Given the description of an element on the screen output the (x, y) to click on. 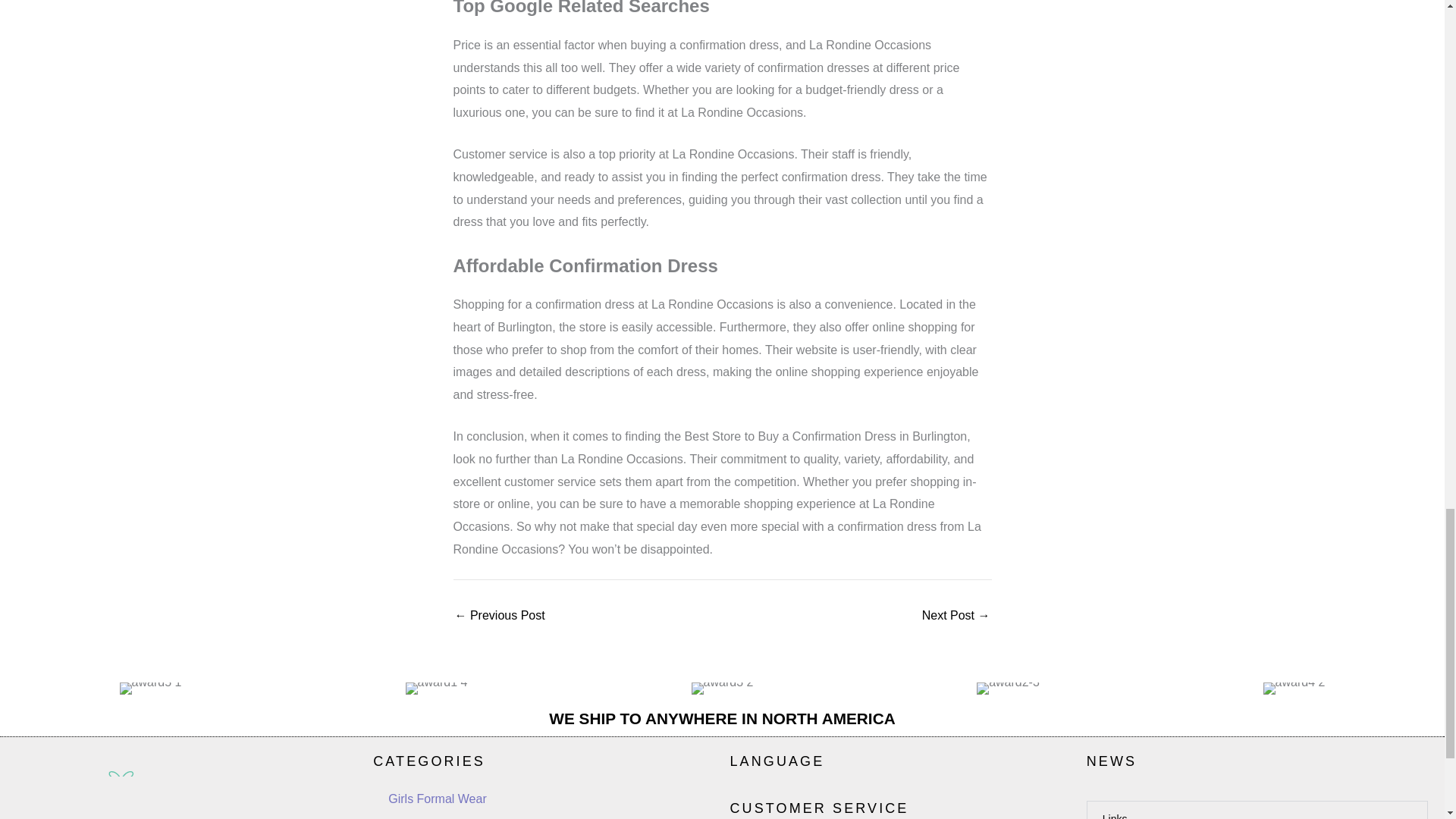
Where Can I Buy A Confirmation Dress in Brantford? (955, 615)
Can I Find A Modest Confirmation Dress in Burlington? (499, 615)
